Given the description of an element on the screen output the (x, y) to click on. 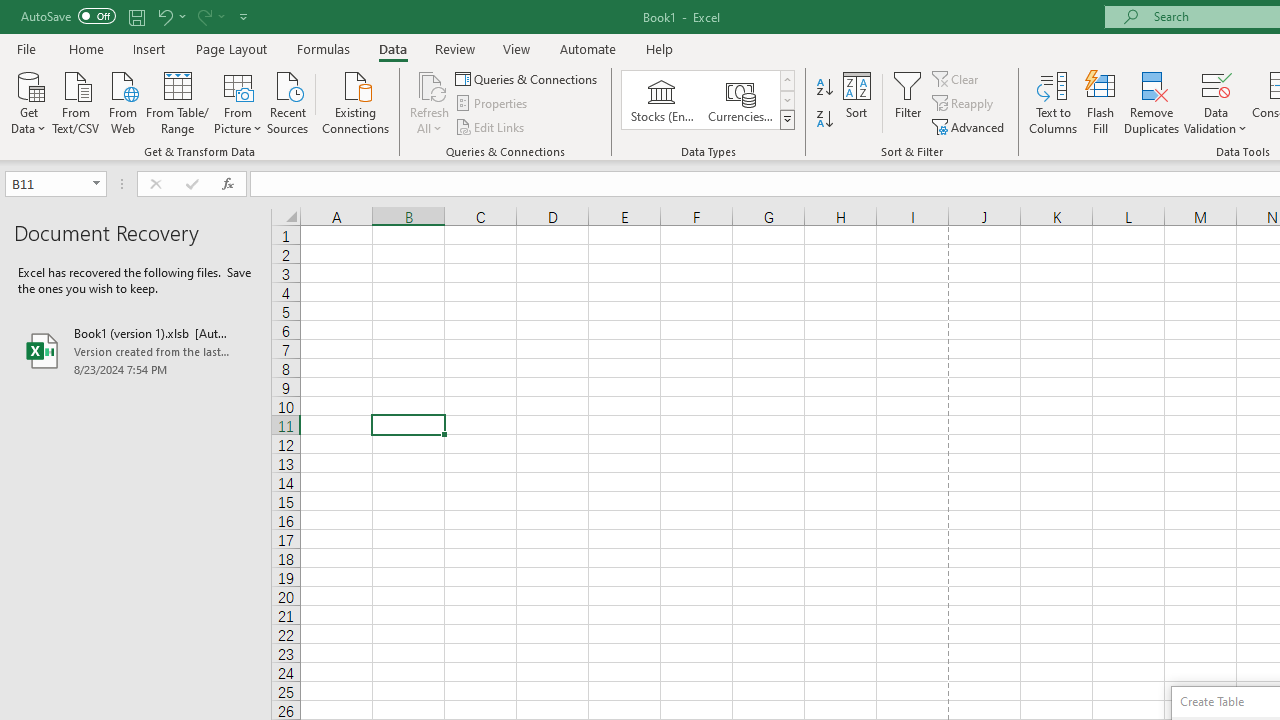
Sort... (856, 102)
From Picture (238, 101)
Edit Links (491, 126)
Data Types (786, 120)
Get Data (28, 101)
